Given the description of an element on the screen output the (x, y) to click on. 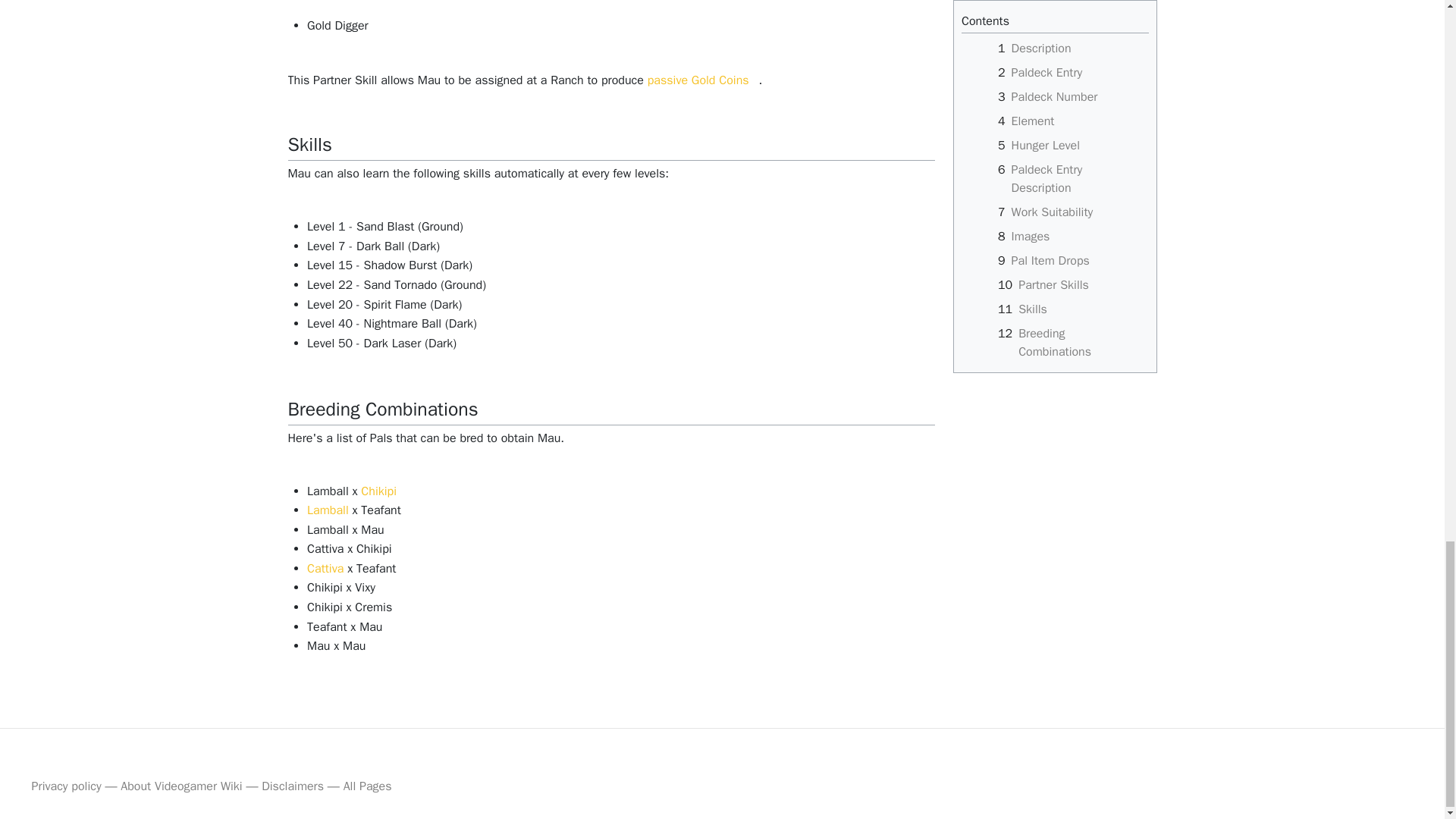
Palworld:Lamball (328, 509)
Palworld:Chikipi (378, 491)
